Given the description of an element on the screen output the (x, y) to click on. 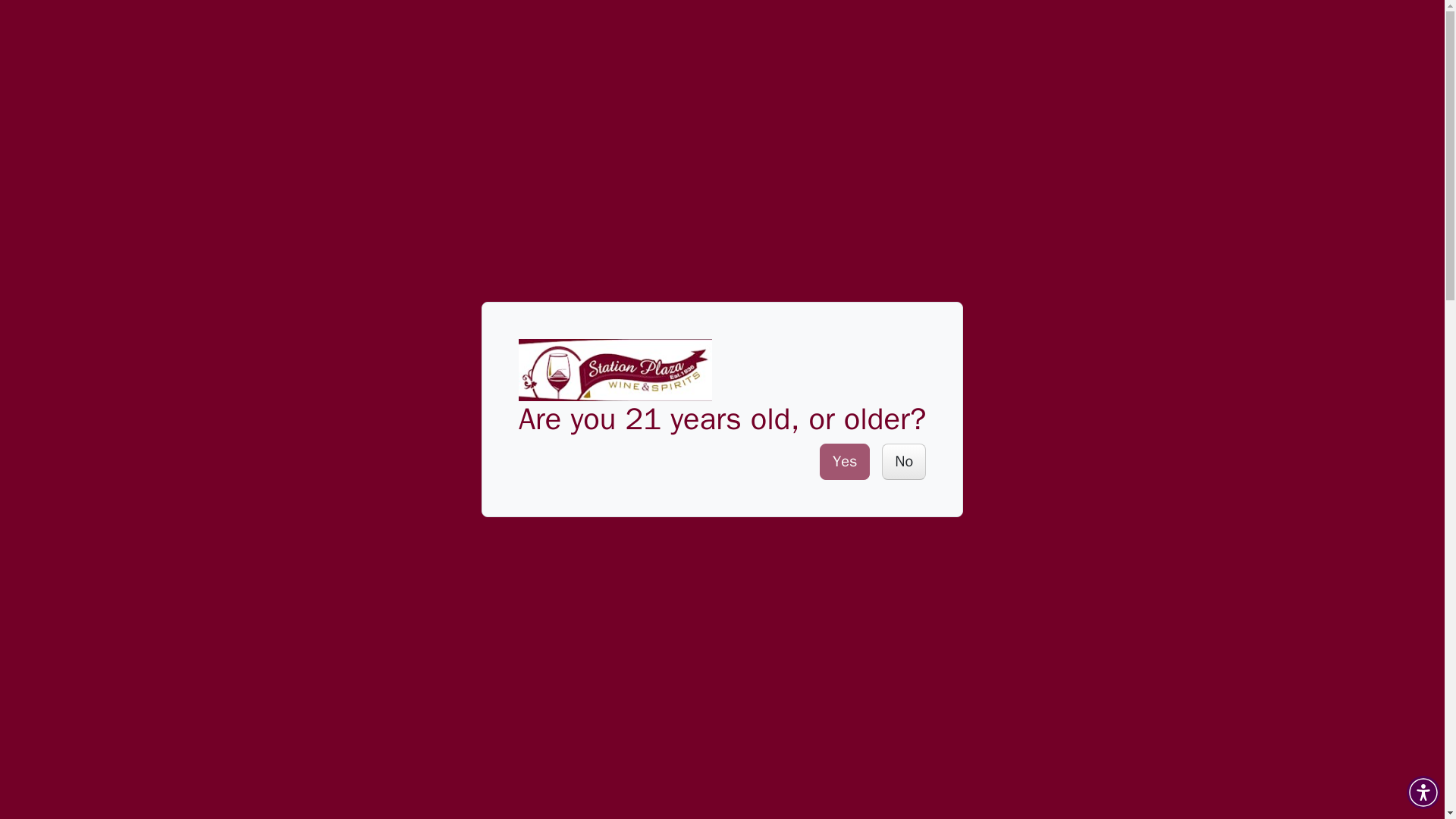
James Suckling 96 point rating. (804, 163)
Station Plaza Wine 95 point rating. (856, 163)
Accessibility Menu (1422, 792)
Wine Spectator 94 point rating. (963, 163)
Wine (172, 54)
Wine Enthusiast 94 point rating. (911, 163)
Wine Advocate 96 point rating. (753, 163)
